Given the description of an element on the screen output the (x, y) to click on. 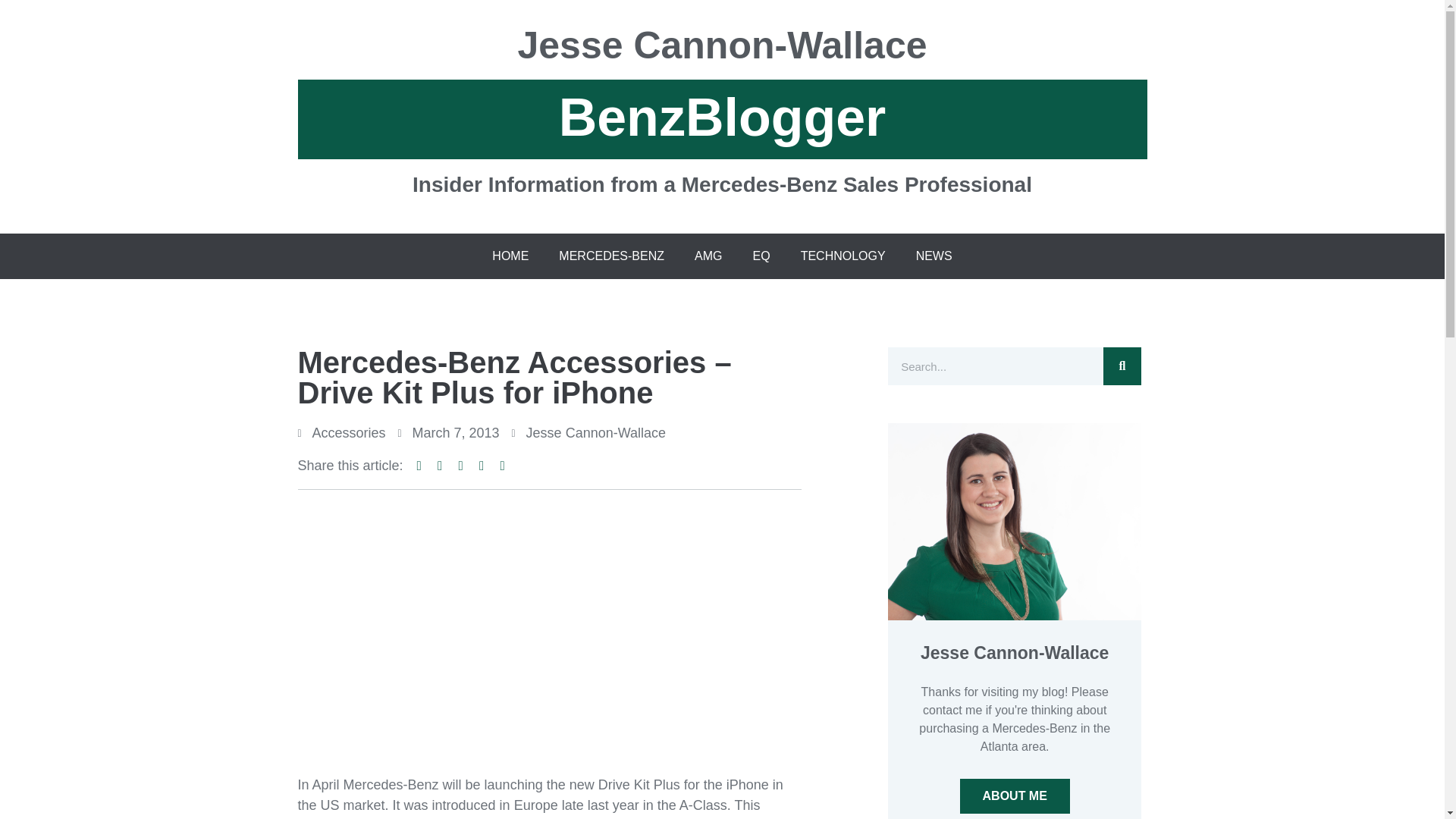
HOME (509, 255)
Jesse Cannon-Wallace (722, 52)
ABOUT ME (1014, 796)
NEWS (933, 255)
Search (995, 365)
TECHNOLOGY (843, 255)
Insider Information from a Mercedes-Benz Sales Professional (722, 176)
Search (1122, 365)
EQ (760, 255)
MERCEDES-BENZ (611, 255)
BenzBlogger (722, 118)
Accessories (349, 432)
AMG (708, 255)
